Given the description of an element on the screen output the (x, y) to click on. 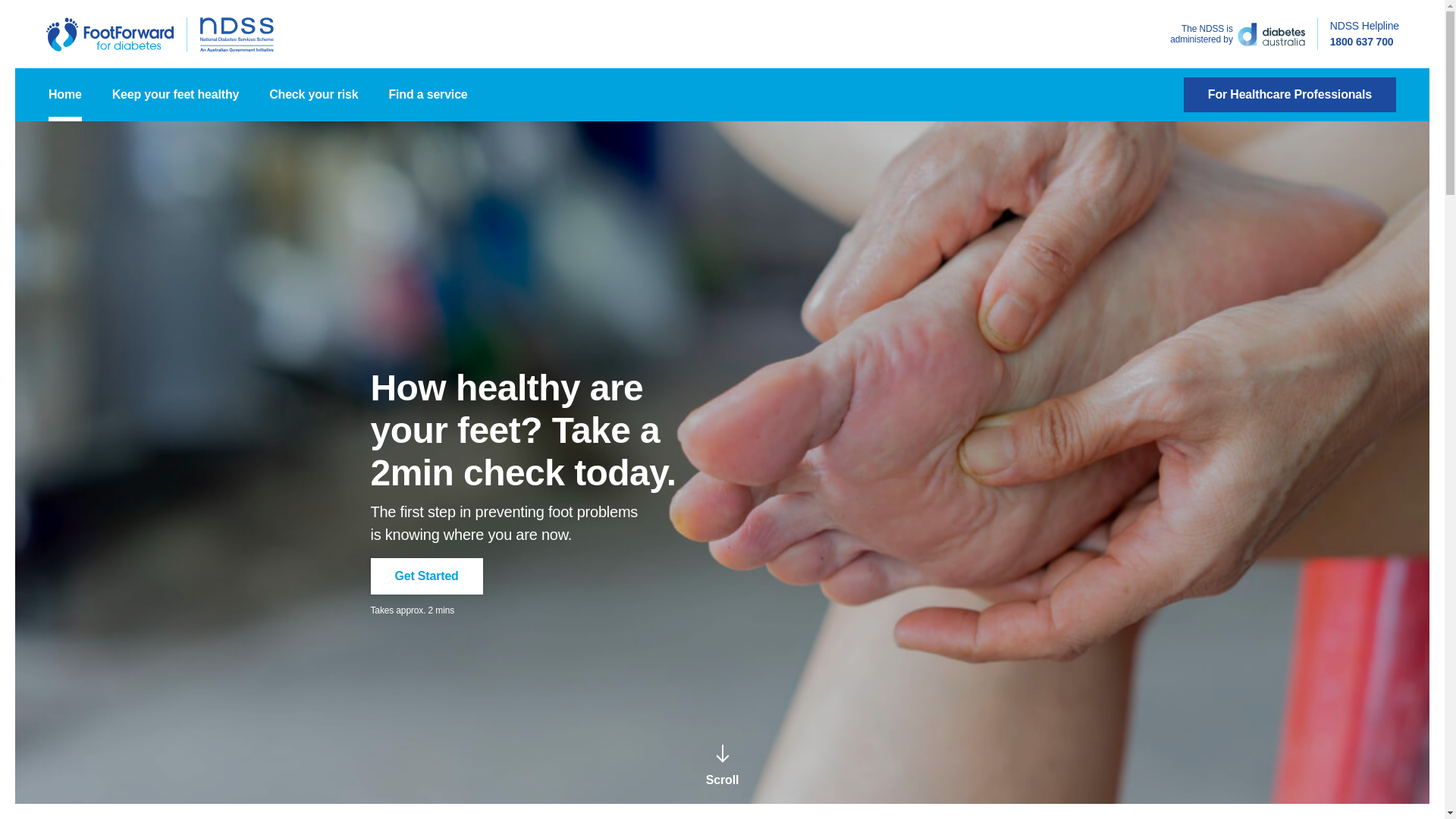
National Diabetes Services Scheme Element type: hover (236, 33)
Get Started Element type: text (426, 576)
Home Element type: text (64, 94)
Keep your feet healthy Element type: text (175, 94)
Check your risk Element type: text (313, 94)
For Healthcare Professionals Element type: text (1289, 94)
1800 637 700 Element type: text (1361, 41)
Find a service Element type: text (427, 94)
